Given the description of an element on the screen output the (x, y) to click on. 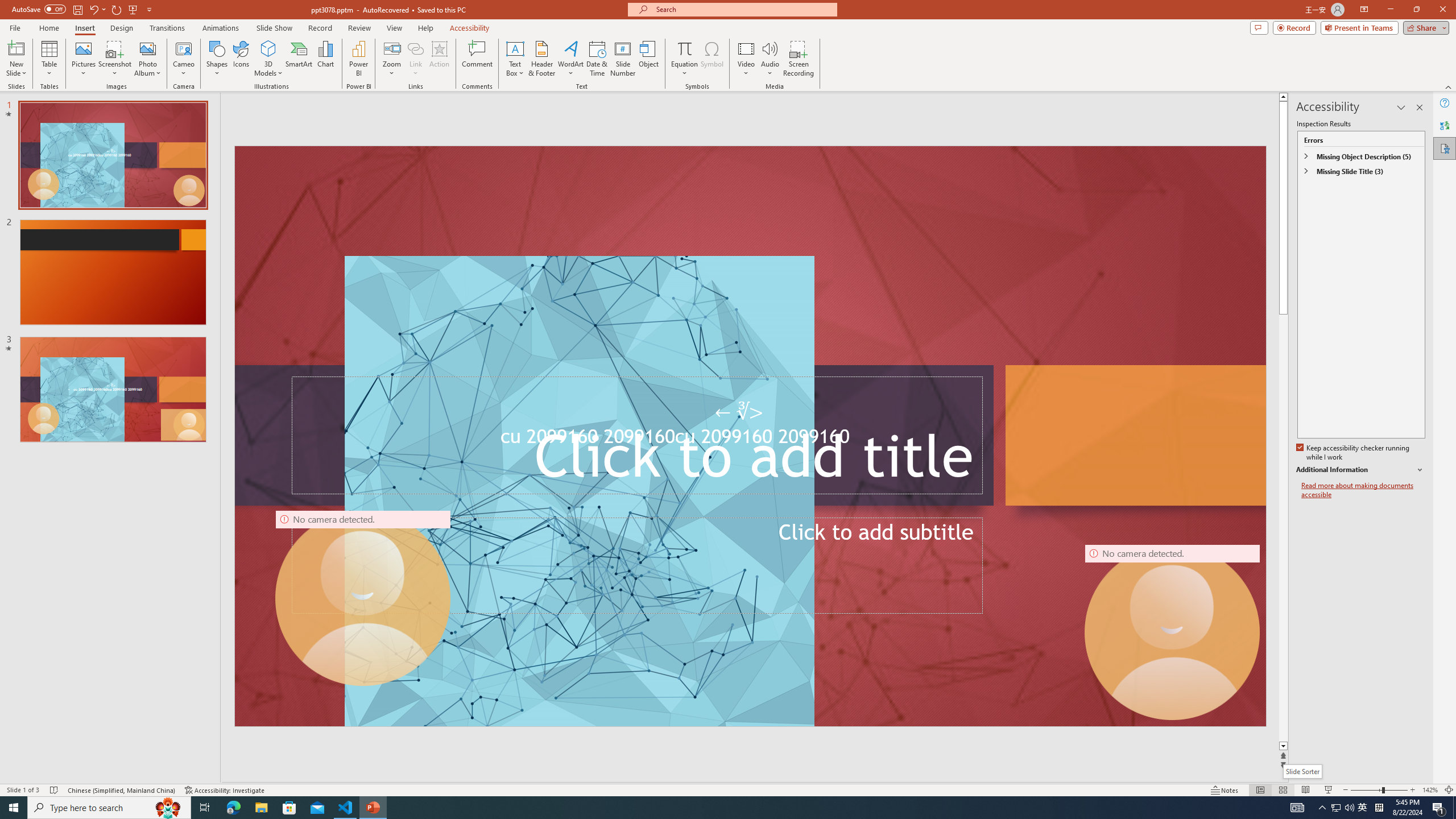
New Slide (16, 48)
Quick Access Toolbar (82, 9)
Share (1423, 27)
New Photo Album... (147, 48)
Comments (1259, 27)
Title TextBox (636, 434)
TextBox 7 (740, 412)
Zoom (1379, 790)
Microsoft search (742, 9)
Minimize (1390, 9)
Close (1442, 9)
Restore Down (1416, 9)
Notes  (1225, 790)
Slide (112, 389)
